Given the description of an element on the screen output the (x, y) to click on. 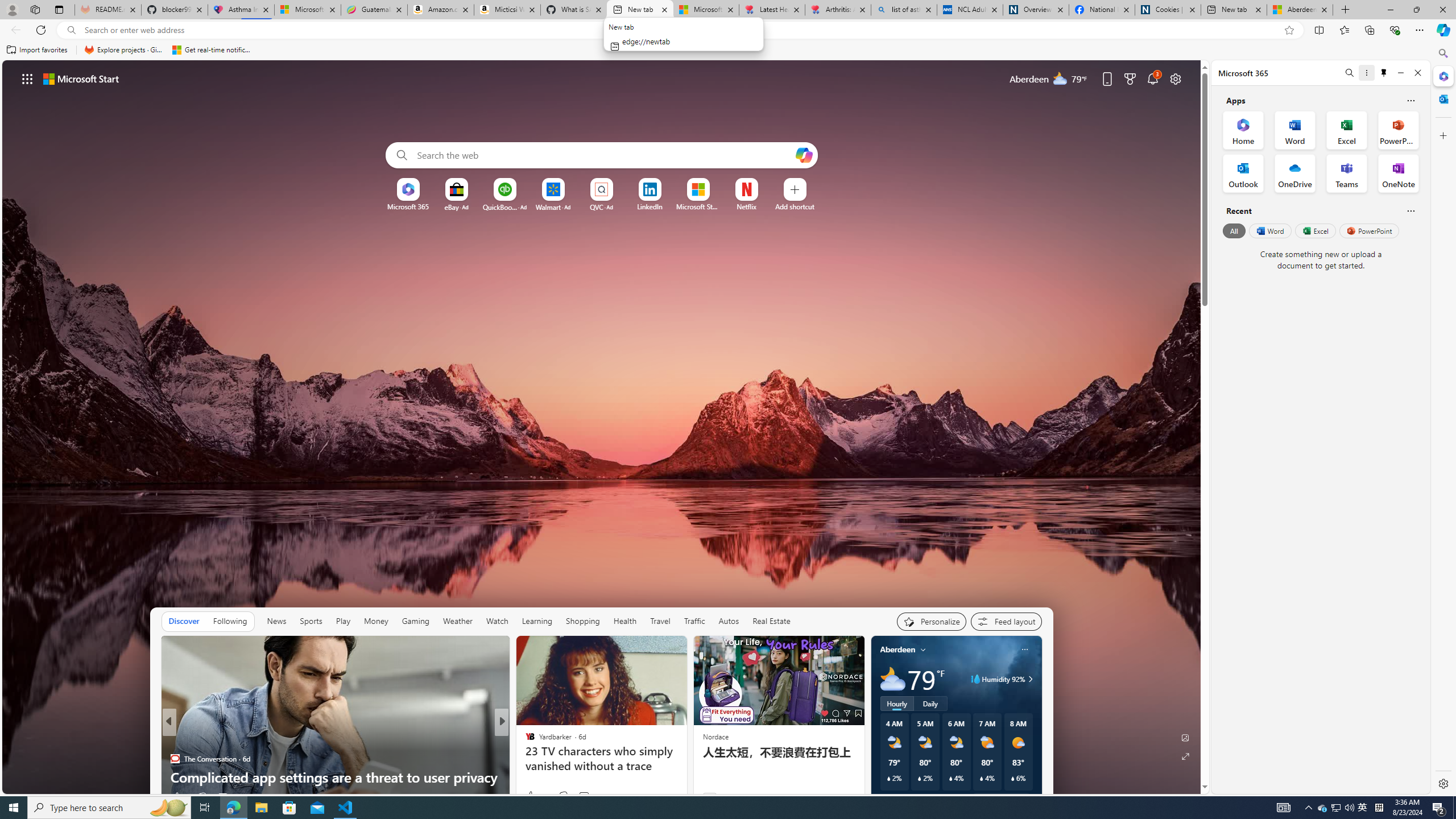
Asthma Inhalers: Names and Types (240, 9)
Humidity 92% (1028, 678)
Is this helpful? (1410, 210)
Shopping (583, 621)
Autos (729, 621)
XDA Developers (524, 740)
Yardbarker (524, 740)
Travel (660, 621)
